Given the description of an element on the screen output the (x, y) to click on. 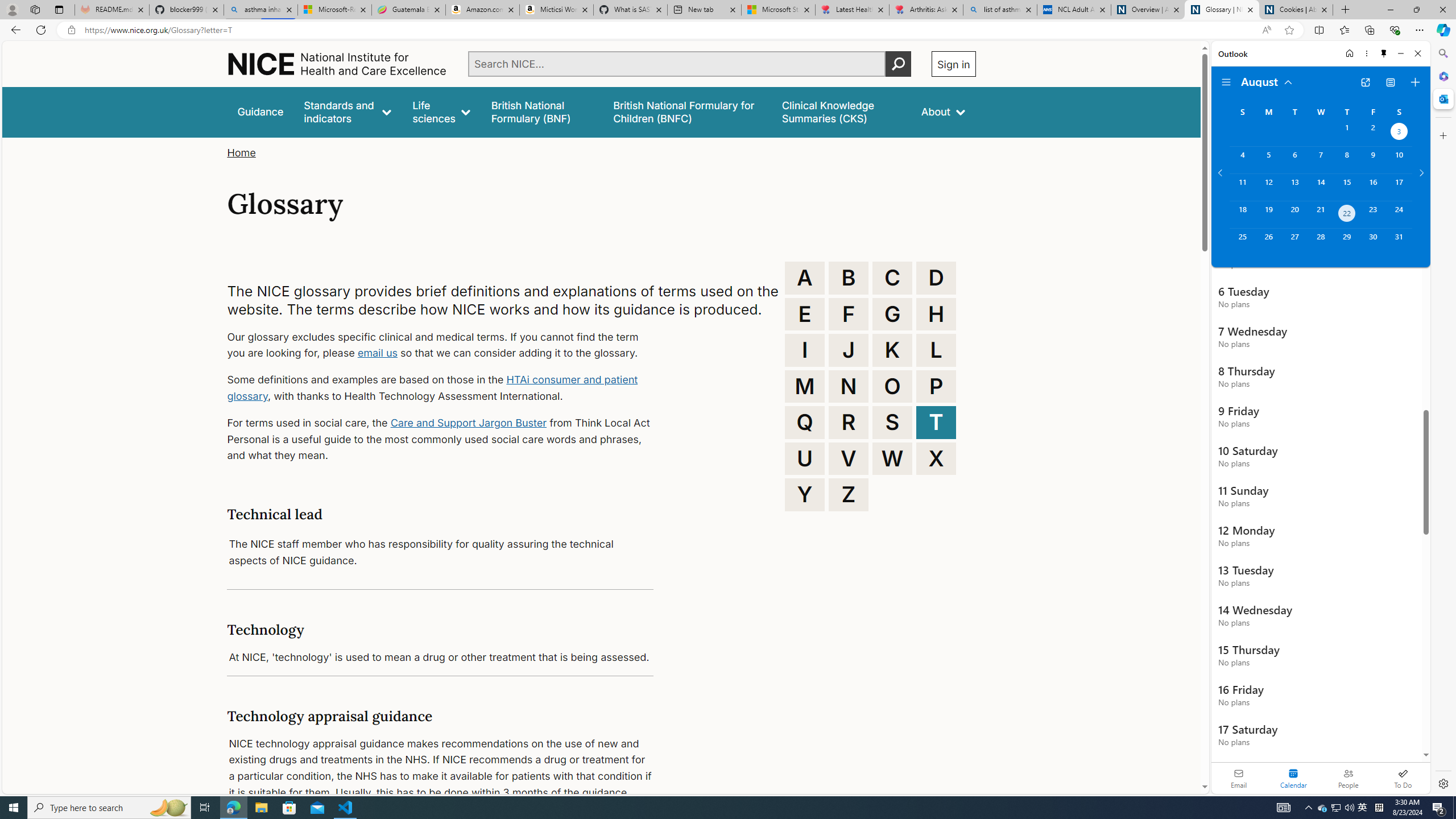
X (935, 458)
Z (848, 494)
O (892, 385)
Life sciences (440, 111)
J (848, 350)
Wednesday, August 21, 2024.  (1320, 214)
Monday, August 12, 2024.  (1268, 186)
Thursday, August 1, 2024.  (1346, 132)
Friday, August 2, 2024.  (1372, 132)
